Given the description of an element on the screen output the (x, y) to click on. 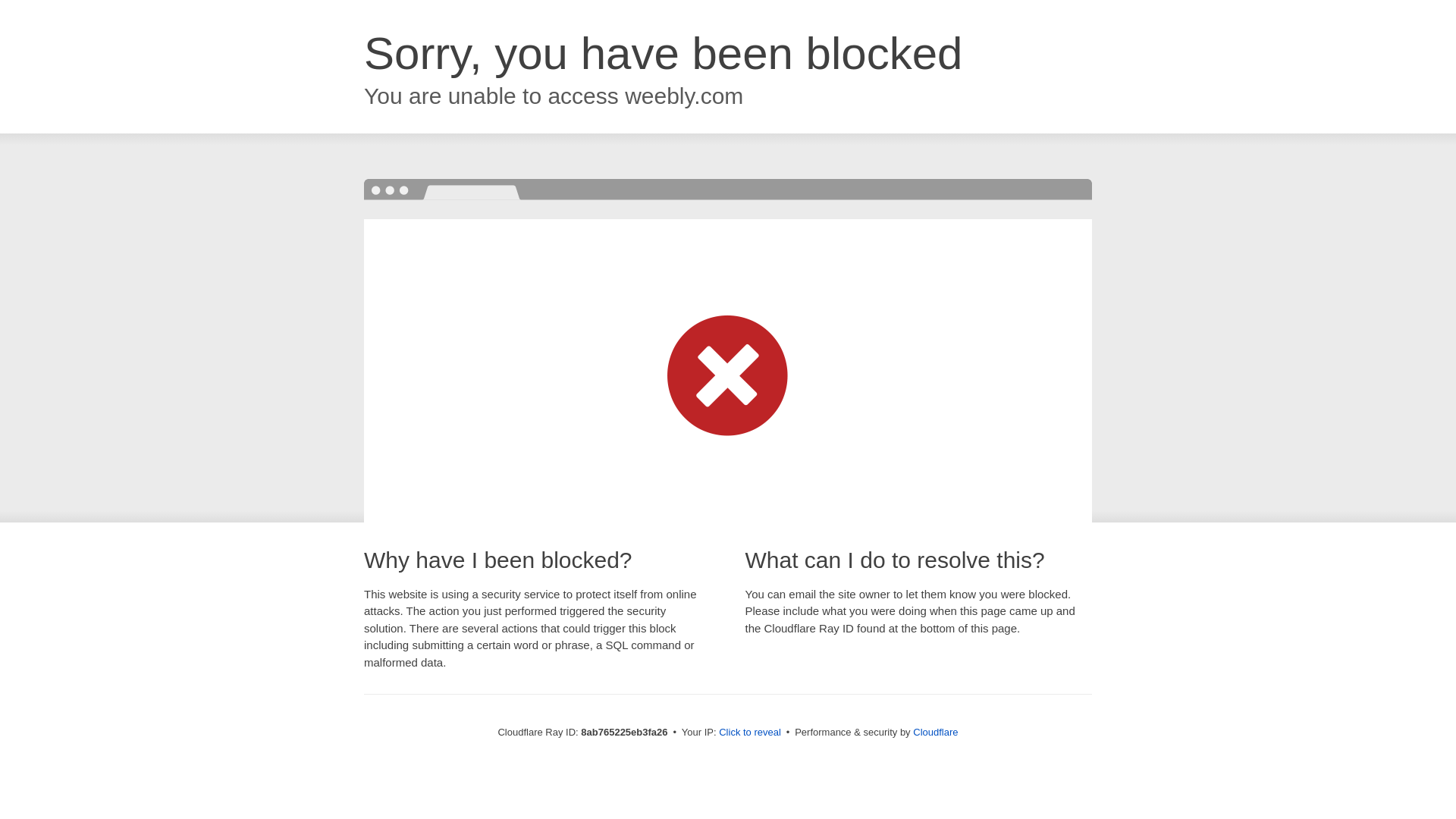
Click to reveal (749, 732)
Cloudflare (935, 731)
